Given the description of an element on the screen output the (x, y) to click on. 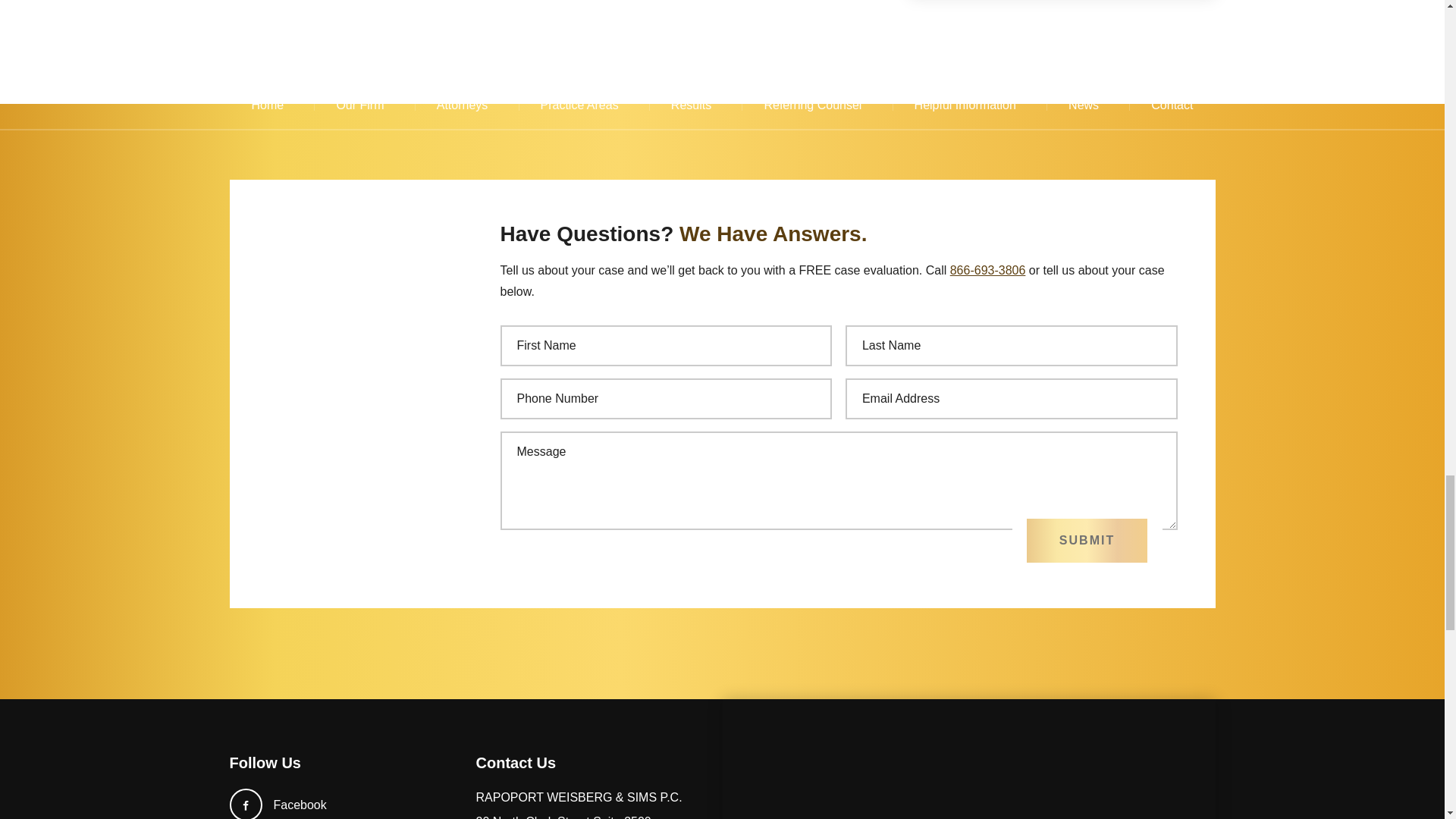
Submit (1086, 540)
